Given the description of an element on the screen output the (x, y) to click on. 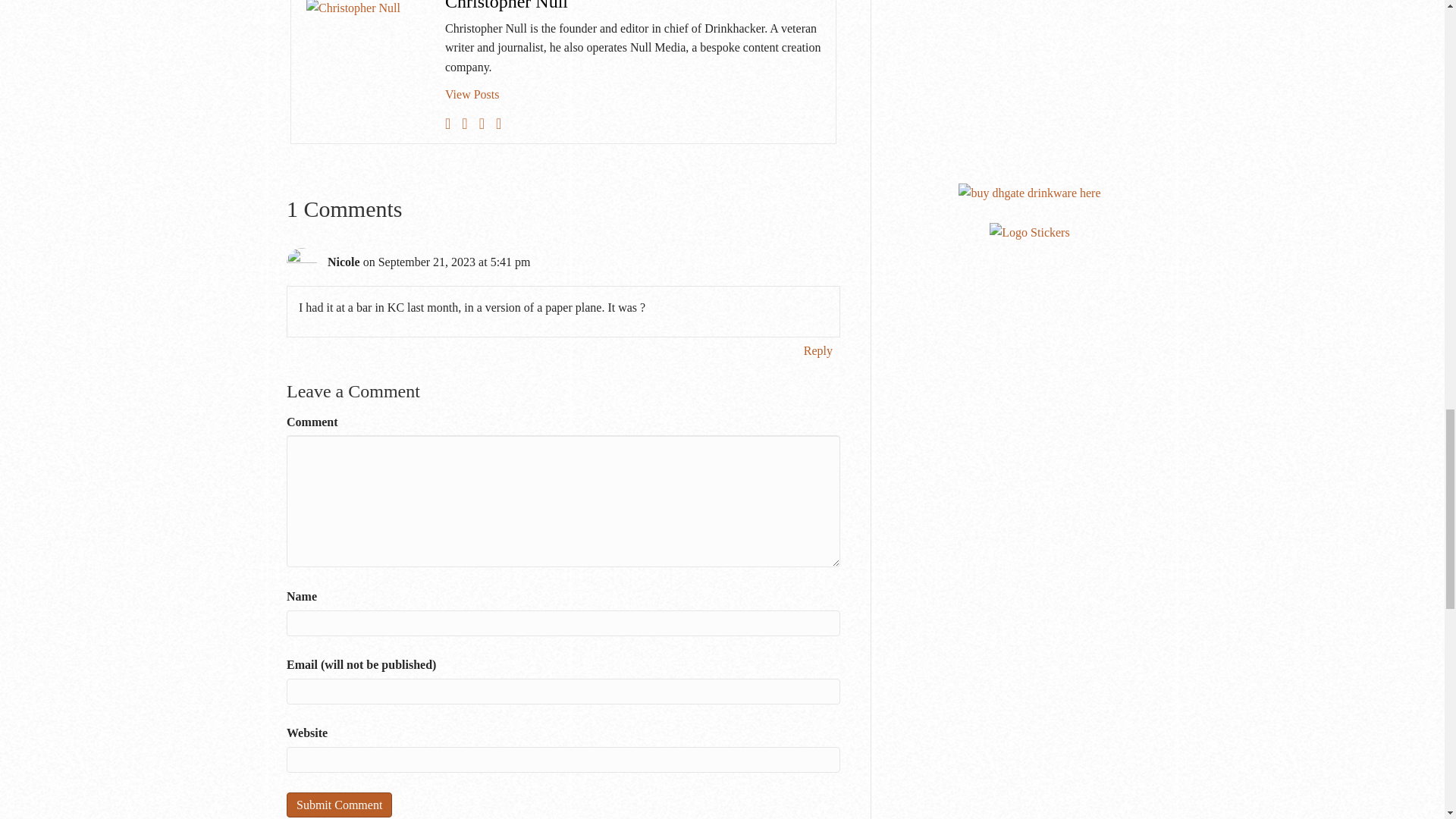
Submit Comment (338, 804)
